Given the description of an element on the screen output the (x, y) to click on. 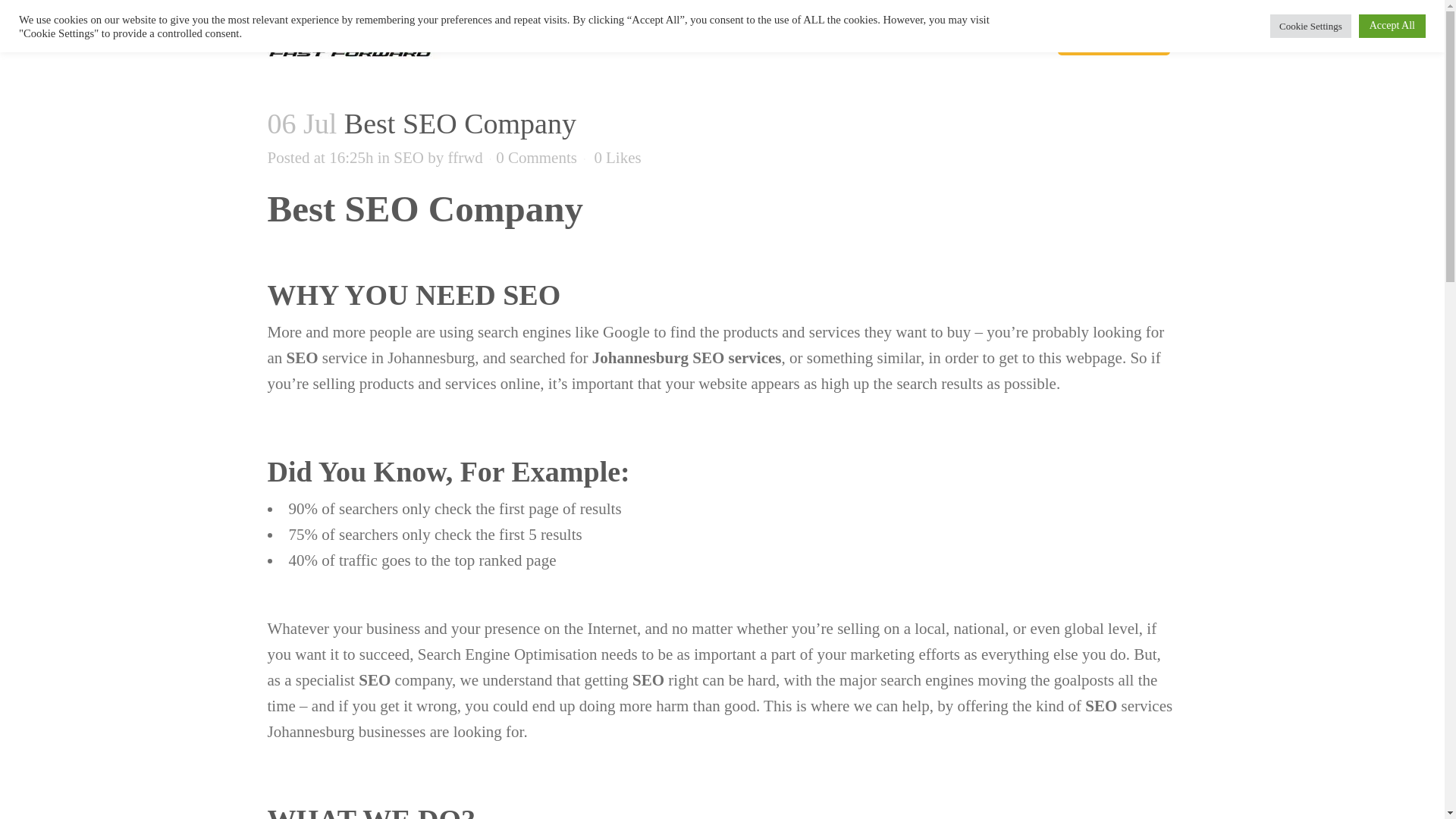
Free SEO Analysis (1113, 40)
Contact Us (1012, 40)
Case Studies (743, 40)
Like this (618, 157)
